Given the description of an element on the screen output the (x, y) to click on. 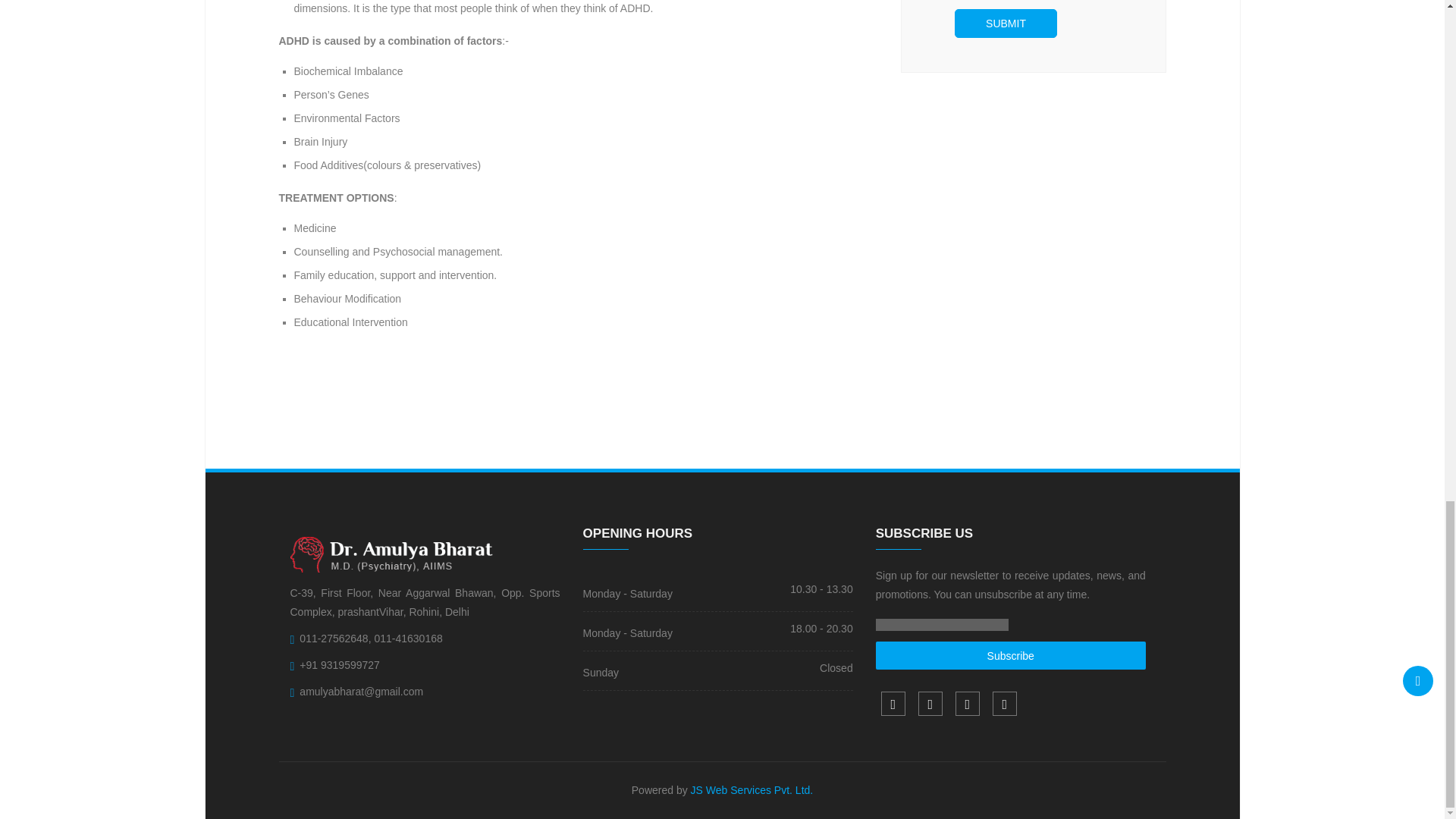
Subscribe (1010, 655)
Submit (1006, 23)
